Given the description of an element on the screen output the (x, y) to click on. 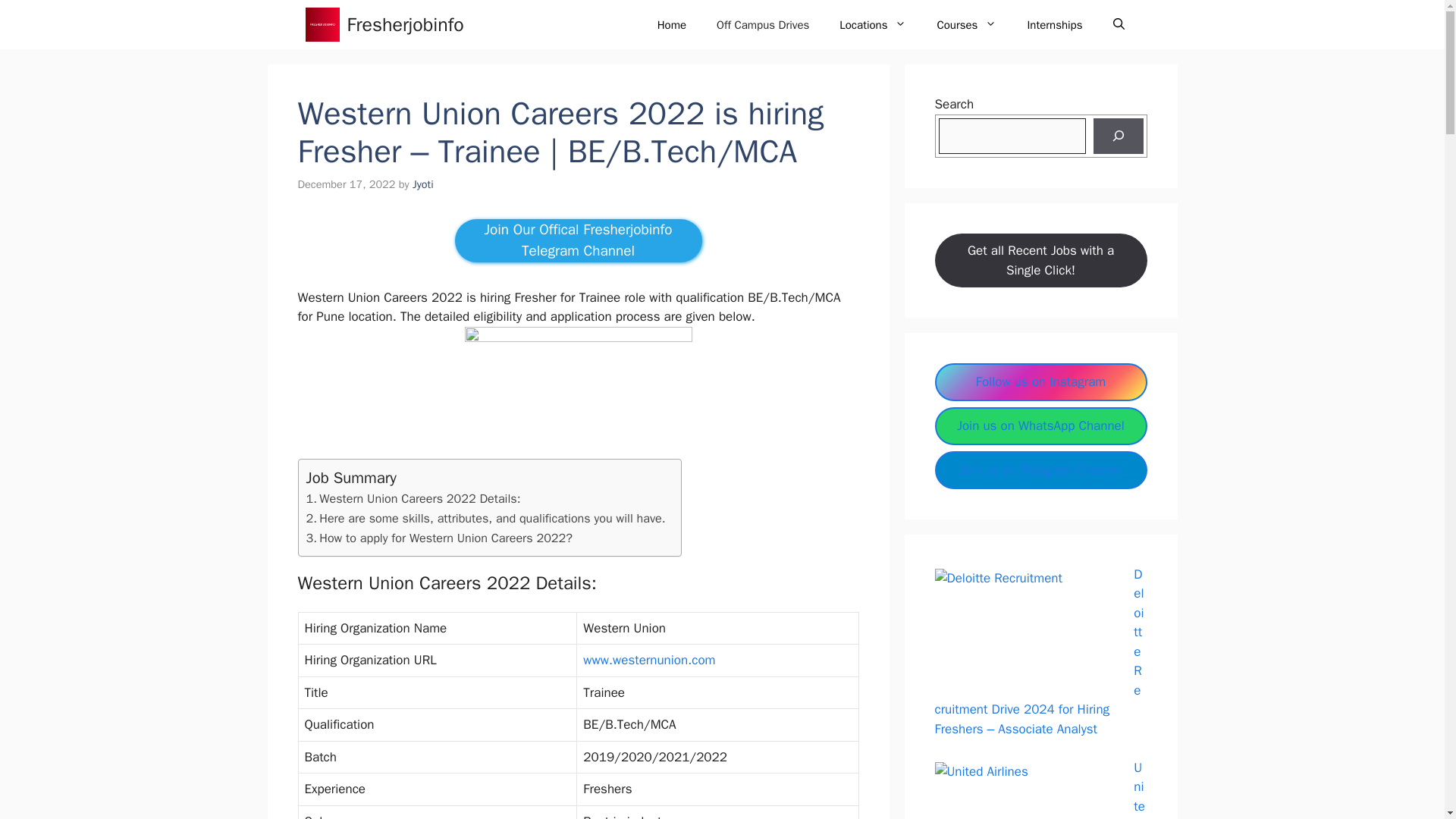
Internships (1054, 23)
westernunion (648, 659)
How to apply for Western Union Careers 2022? (438, 537)
Courses (966, 23)
fresherjobinfo telegram (577, 240)
Jyoti (422, 183)
Locations (872, 23)
Off Campus Drives (762, 23)
View all posts by Jyoti (422, 183)
Fresherjobinfo (405, 24)
Western Union Careers 2022 Details: (413, 498)
Join Our Offical Fresherjobinfo Telegram Channel (577, 240)
www.westernunion.com (648, 659)
